Given the description of an element on the screen output the (x, y) to click on. 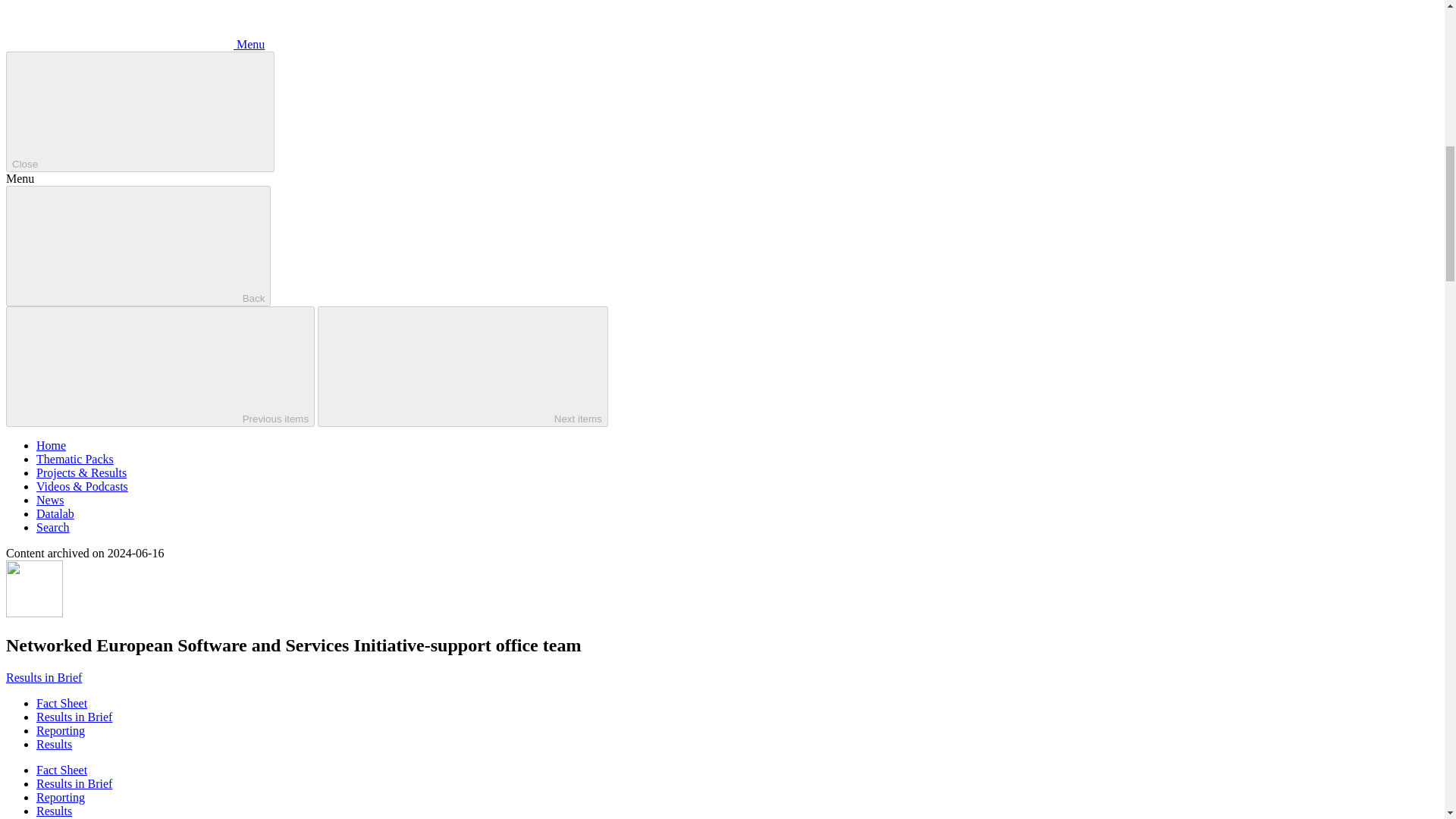
News (50, 499)
Menu (134, 43)
Search (52, 526)
Close (140, 111)
Home (50, 445)
Results (53, 810)
Fact Sheet (61, 703)
Reporting (60, 797)
Reporting (60, 730)
Results (53, 744)
Thematic Packs (74, 459)
Results in Brief (43, 676)
Next items (462, 366)
Previous items (159, 366)
Fact Sheet (61, 769)
